Given the description of an element on the screen output the (x, y) to click on. 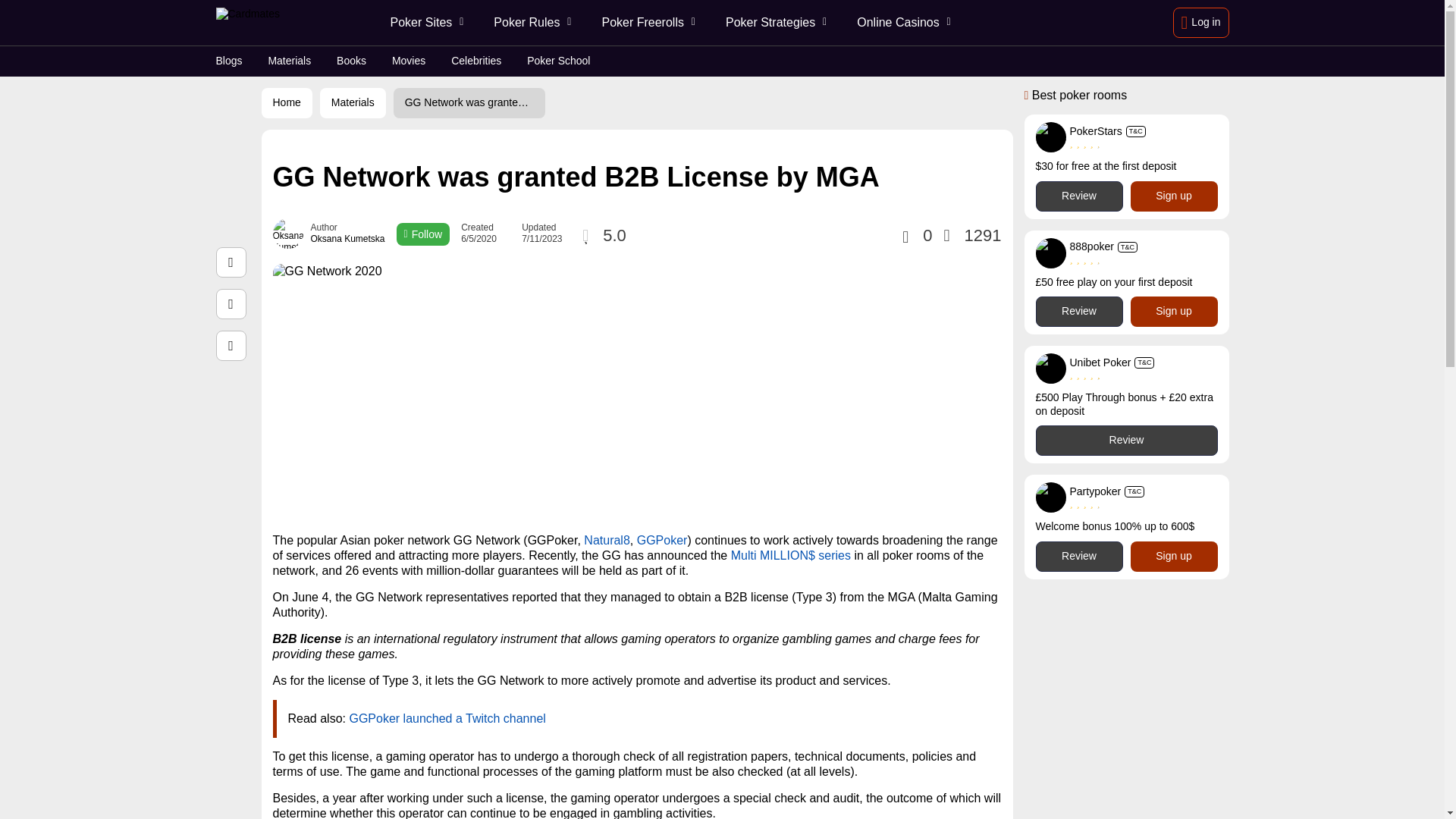
Follow (422, 233)
Poker Strategies (774, 22)
twitter (230, 304)
Blogs (228, 60)
Poker Rules (530, 22)
Log in (1200, 22)
Log in (1200, 22)
Online Casinos (901, 22)
facebook (230, 262)
Poker Freerolls (646, 22)
Movies (408, 60)
Poker School (558, 60)
Poker Sites (424, 22)
Materials (289, 60)
Books (351, 60)
